Given the description of an element on the screen output the (x, y) to click on. 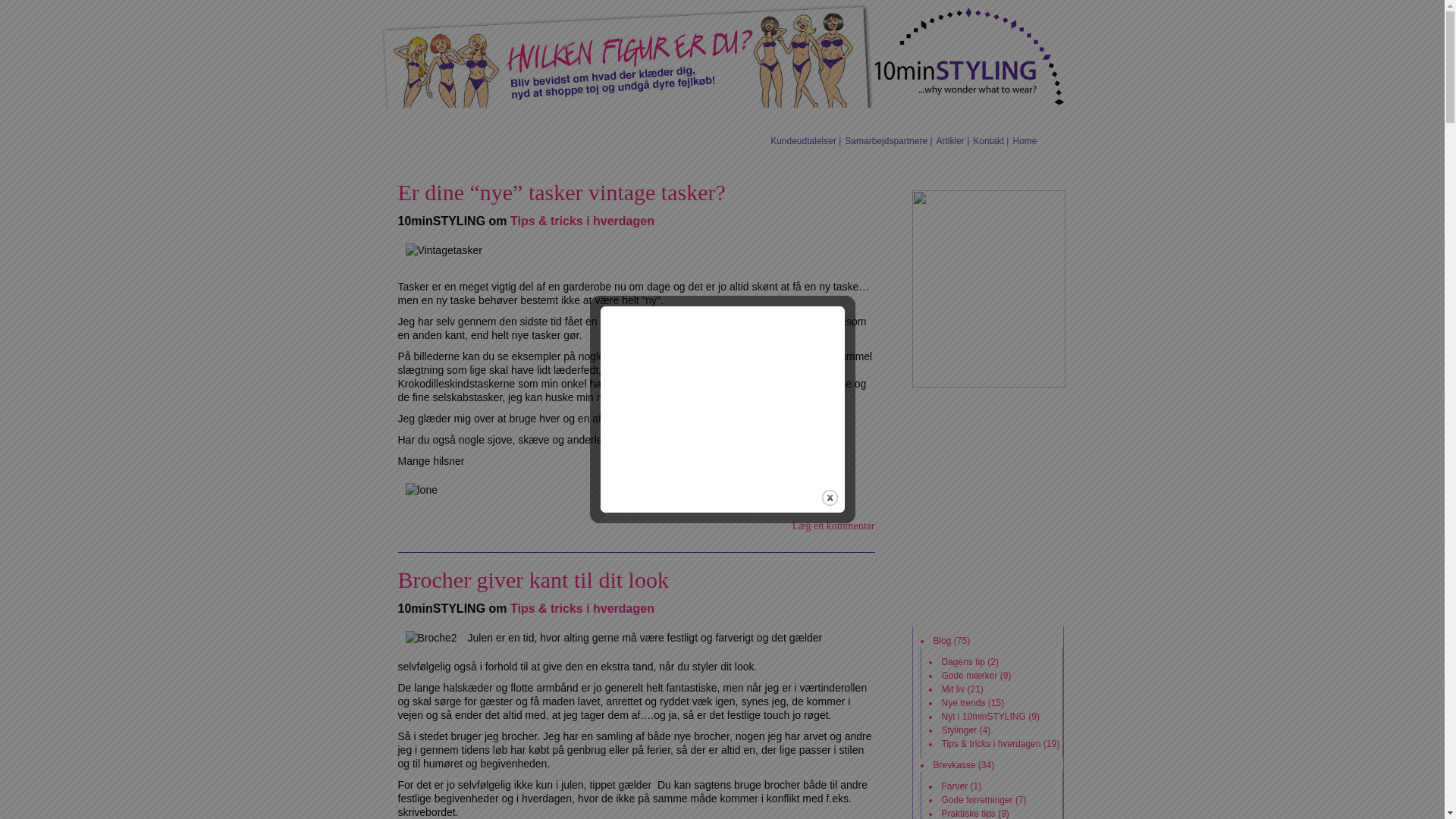
Stylinger Element type: text (959, 729)
Mit liv Element type: text (953, 689)
Tips & tricks i hverdagen Element type: text (582, 608)
Brevkasse Element type: text (953, 764)
Home Element type: text (1024, 140)
widget_link Element type: hover (987, 288)
Samarbejdspartnere Element type: text (885, 140)
Tips & tricks i hverdagen Element type: text (991, 743)
Tips & tricks i hverdagen Element type: text (582, 220)
Gode forretninger Element type: text (977, 799)
close Element type: text (829, 497)
Om Lone de Bie Element type: text (785, 119)
Kundeudtalelser Element type: text (803, 140)
Dagens tip Element type: text (963, 661)
Nyt i 10minSTYLING Element type: text (983, 716)
Bliv din egen stylist Element type: text (567, 119)
Blog Element type: text (941, 640)
Nye trends Element type: text (963, 702)
Personlig stylist Element type: text (680, 119)
Garderobetjek E-bog Element type: text (440, 119)
Artikler Element type: text (950, 140)
Kontakt Element type: text (988, 140)
Farver Element type: text (954, 786)
Login til inspiration Element type: text (987, 167)
Brocher giver kant til dit look Element type: text (532, 579)
